Given the description of an element on the screen output the (x, y) to click on. 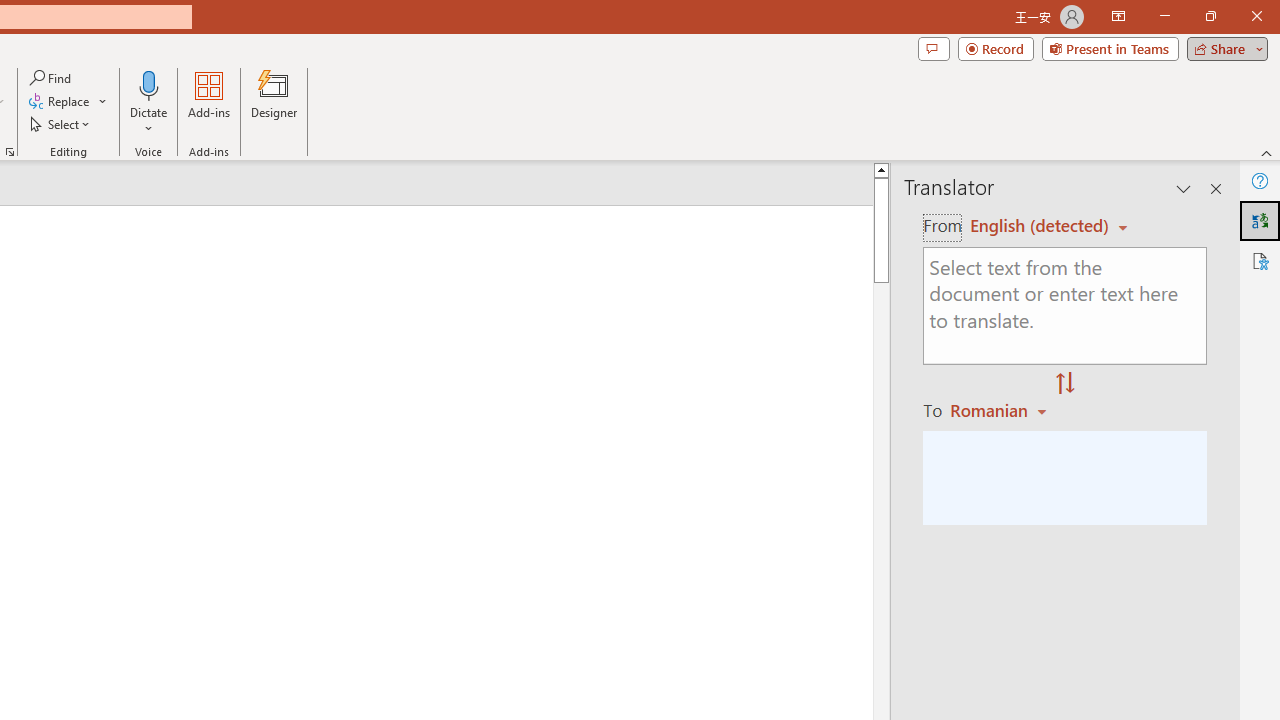
Romanian (1001, 409)
Czech (detected) (1039, 225)
